Given the description of an element on the screen output the (x, y) to click on. 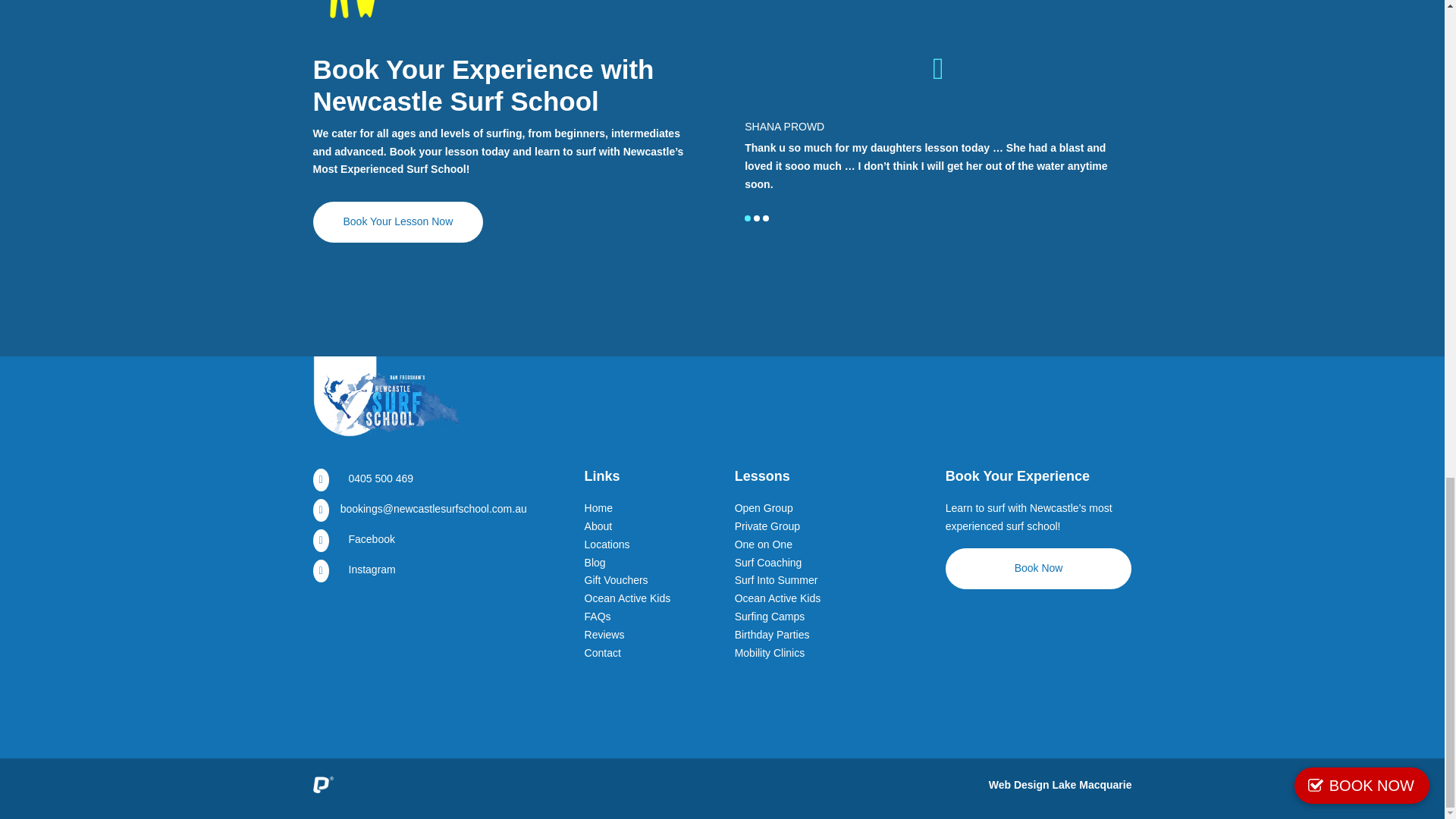
Book Your Lesson Now (398, 221)
Home (598, 508)
psyborg Icon (323, 784)
Icon-10 (350, 9)
Ocean Active Kids (628, 598)
Locations (607, 544)
FAQs (598, 616)
About (598, 526)
Gift Vouchers (616, 580)
Blog (595, 562)
Newcastle Surf School (387, 401)
